Given the description of an element on the screen output the (x, y) to click on. 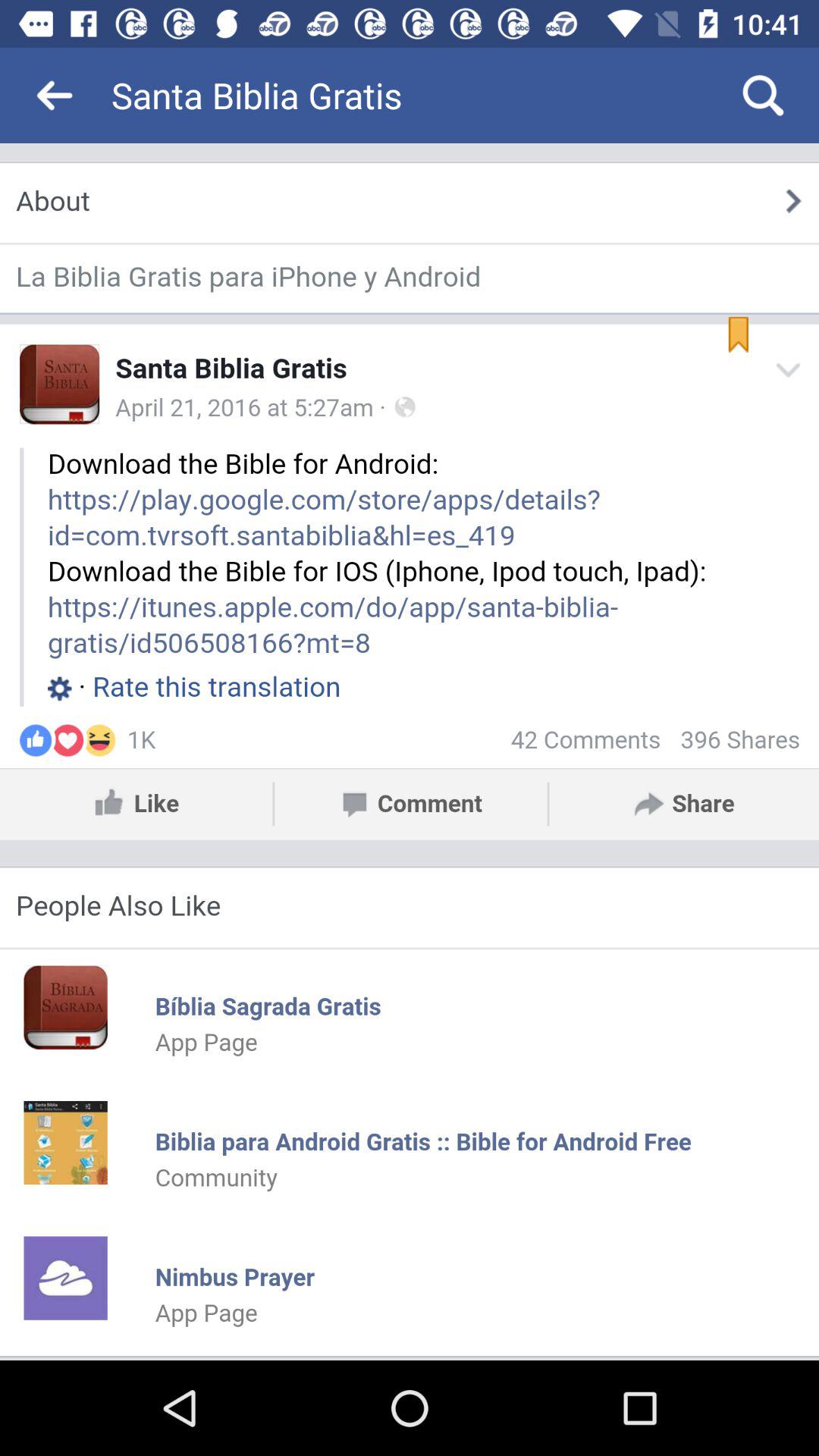
scroll until the santa biblia gratis (393, 95)
